Given the description of an element on the screen output the (x, y) to click on. 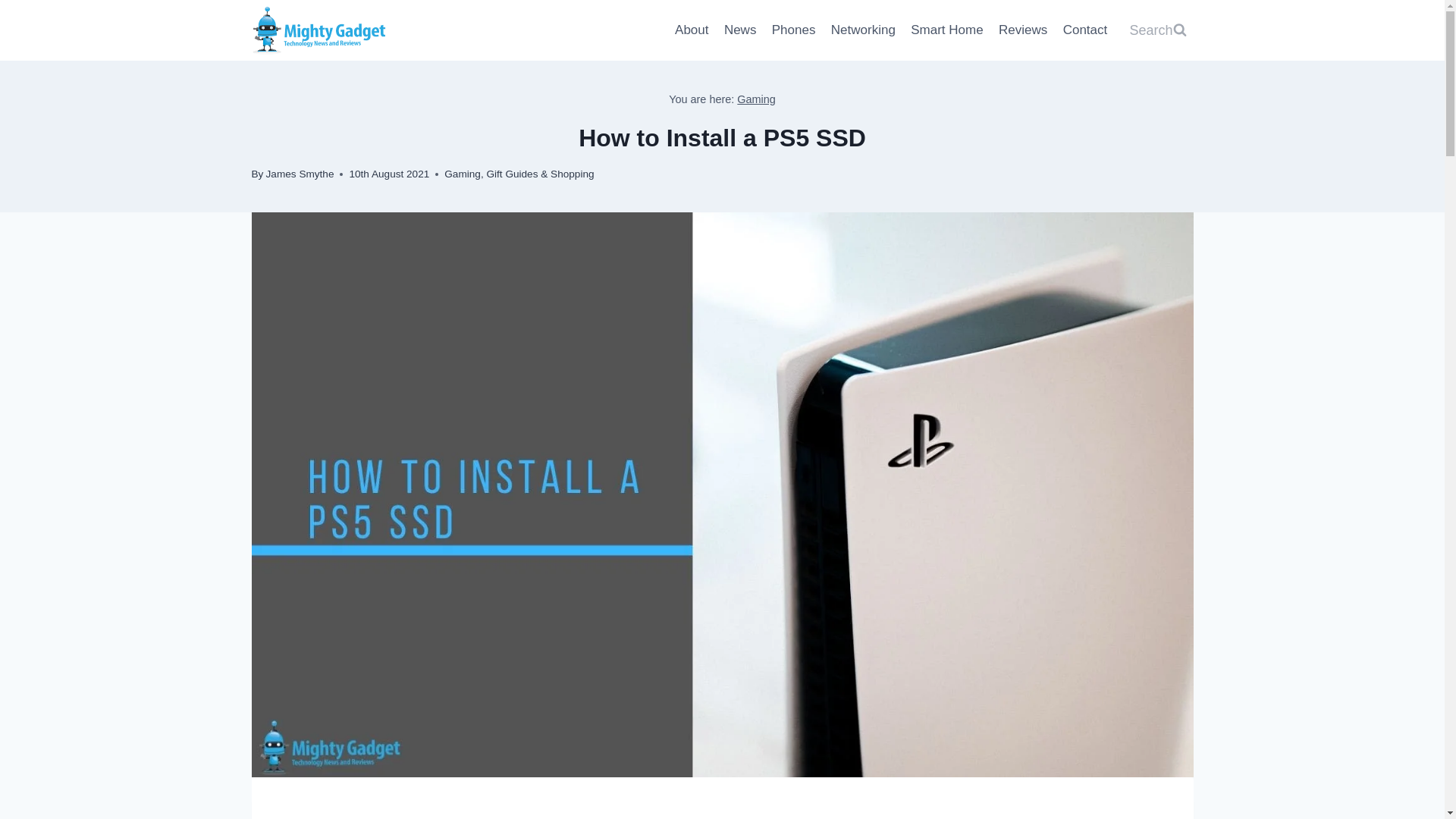
Smart Home (946, 30)
James Smythe (300, 173)
Phones (794, 30)
Contact (1084, 30)
News (740, 30)
About (691, 30)
Gaming (462, 173)
Gaming (756, 99)
Networking (863, 30)
Search (1157, 30)
Reviews (1023, 30)
